Given the description of an element on the screen output the (x, y) to click on. 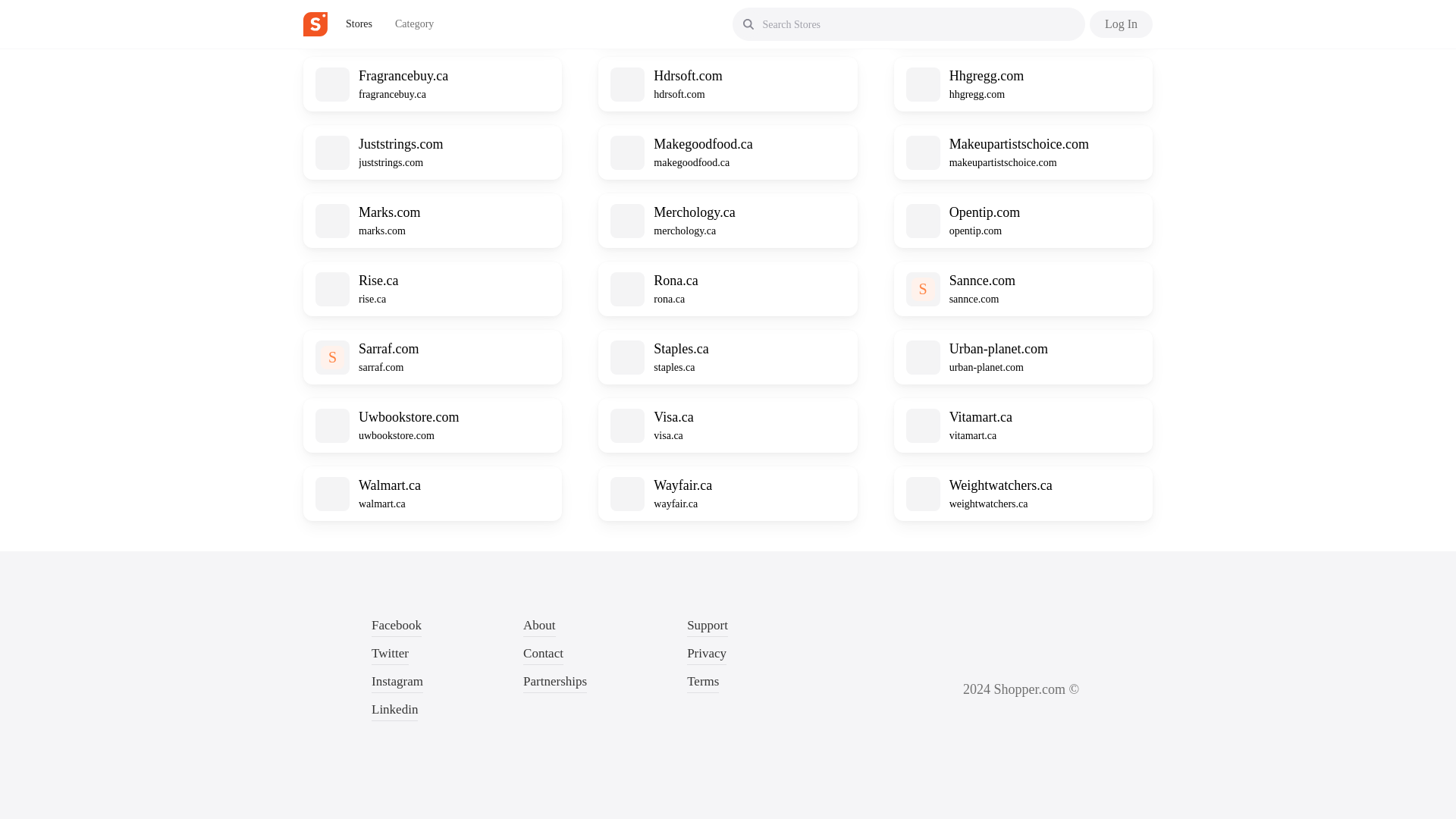
Costco.ca (679, 7)
Cosmomusic.ca (401, 7)
Fragrancebuy.ca (403, 75)
Epson.ca (973, 7)
